Given the description of an element on the screen output the (x, y) to click on. 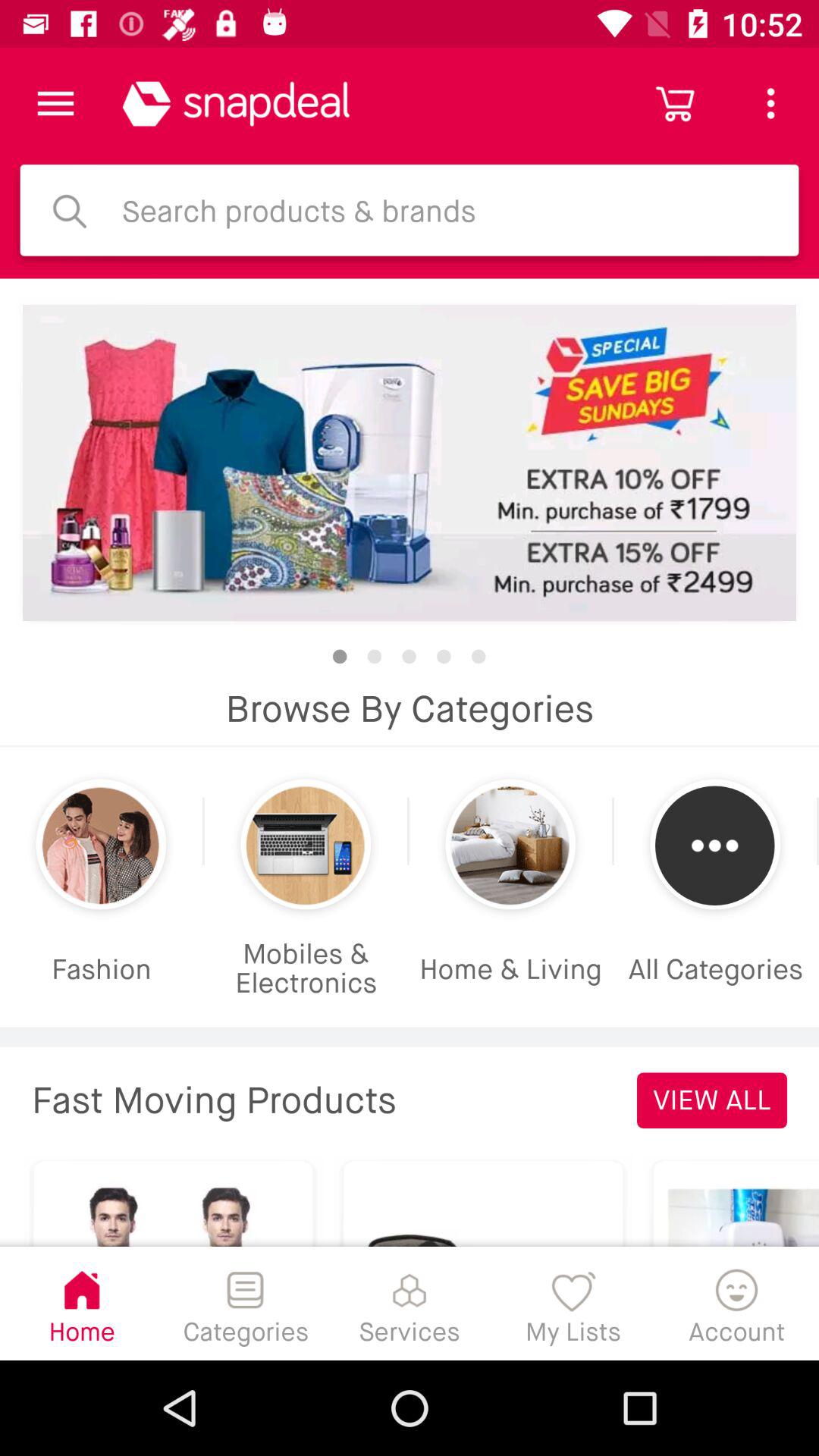
jump until my lists (573, 1303)
